Given the description of an element on the screen output the (x, y) to click on. 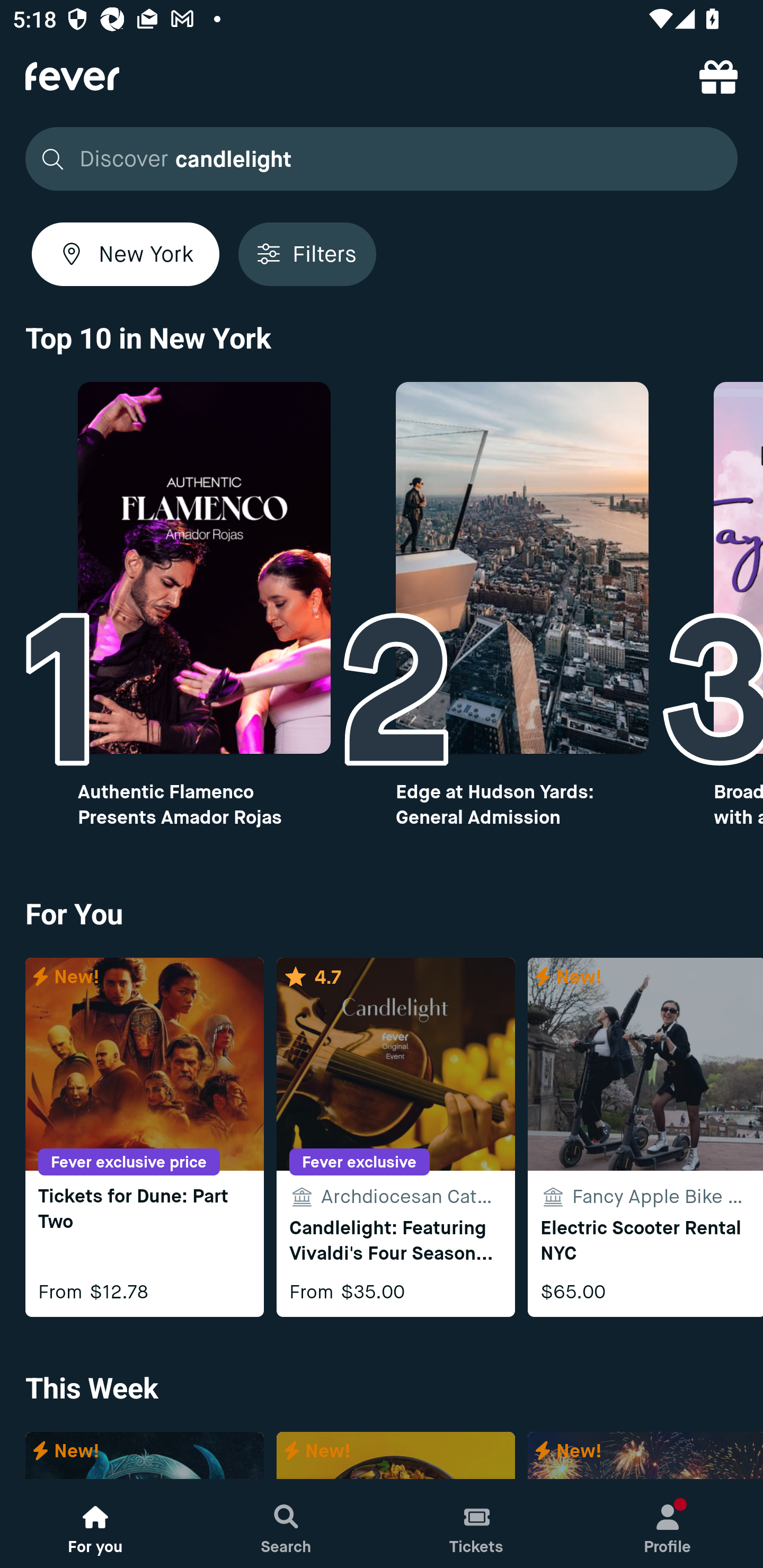
referral (718, 75)
Discover live shows candlelight (381, 158)
Discover live shows candlelight (376, 158)
New York (125, 253)
Filters (307, 253)
Top10 image (203, 568)
Top10 image (521, 568)
Search (285, 1523)
Tickets (476, 1523)
Profile, New notification Profile (667, 1523)
